Given the description of an element on the screen output the (x, y) to click on. 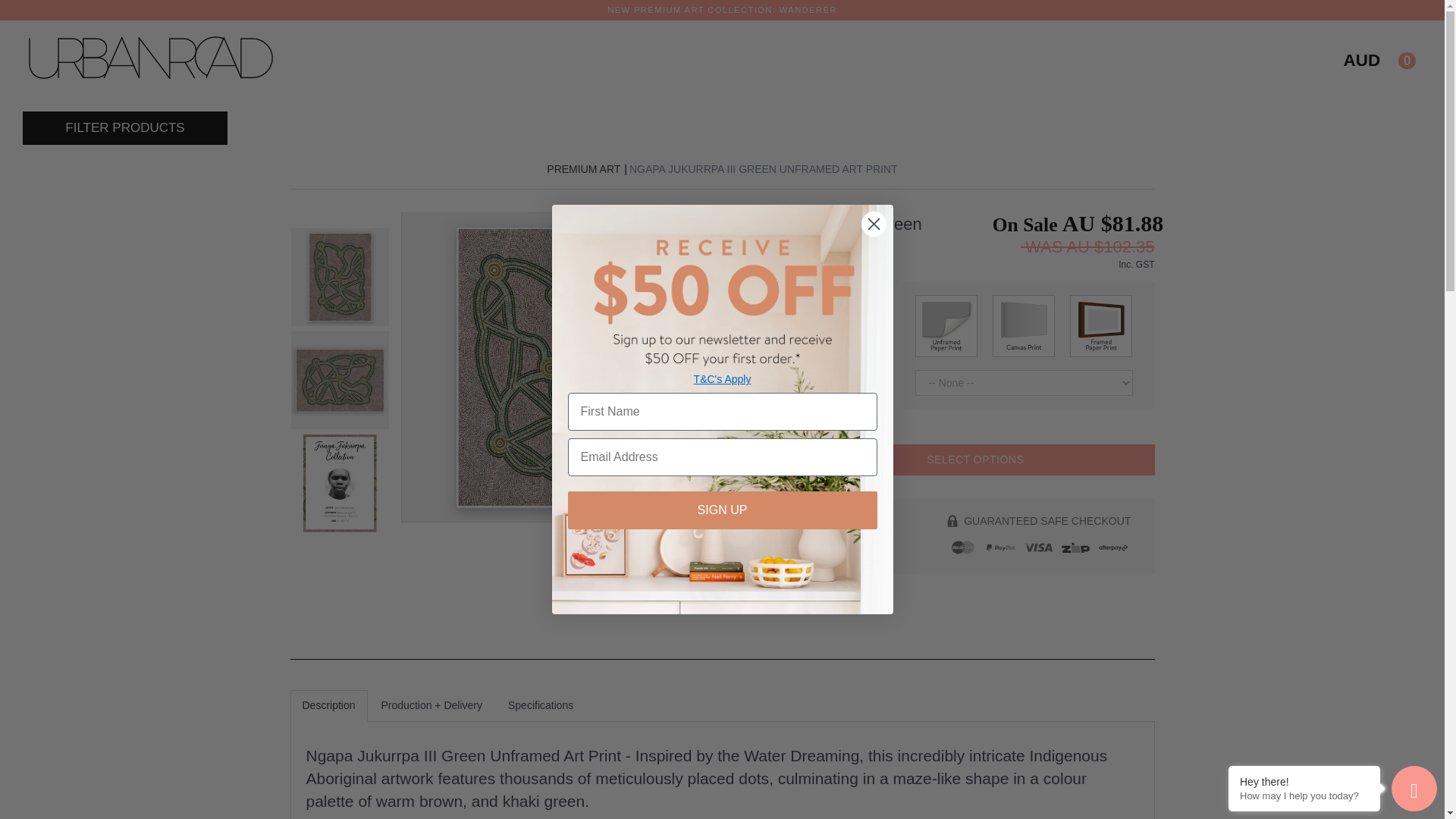
How may I help you today? (1304, 795)
Large View (339, 380)
1 (759, 460)
Urban Road (215, 80)
Convert to your currency (1109, 246)
Large View (556, 367)
Hey there! (1304, 781)
Large View (339, 483)
Convert to your currency (1112, 222)
